Given the description of an element on the screen output the (x, y) to click on. 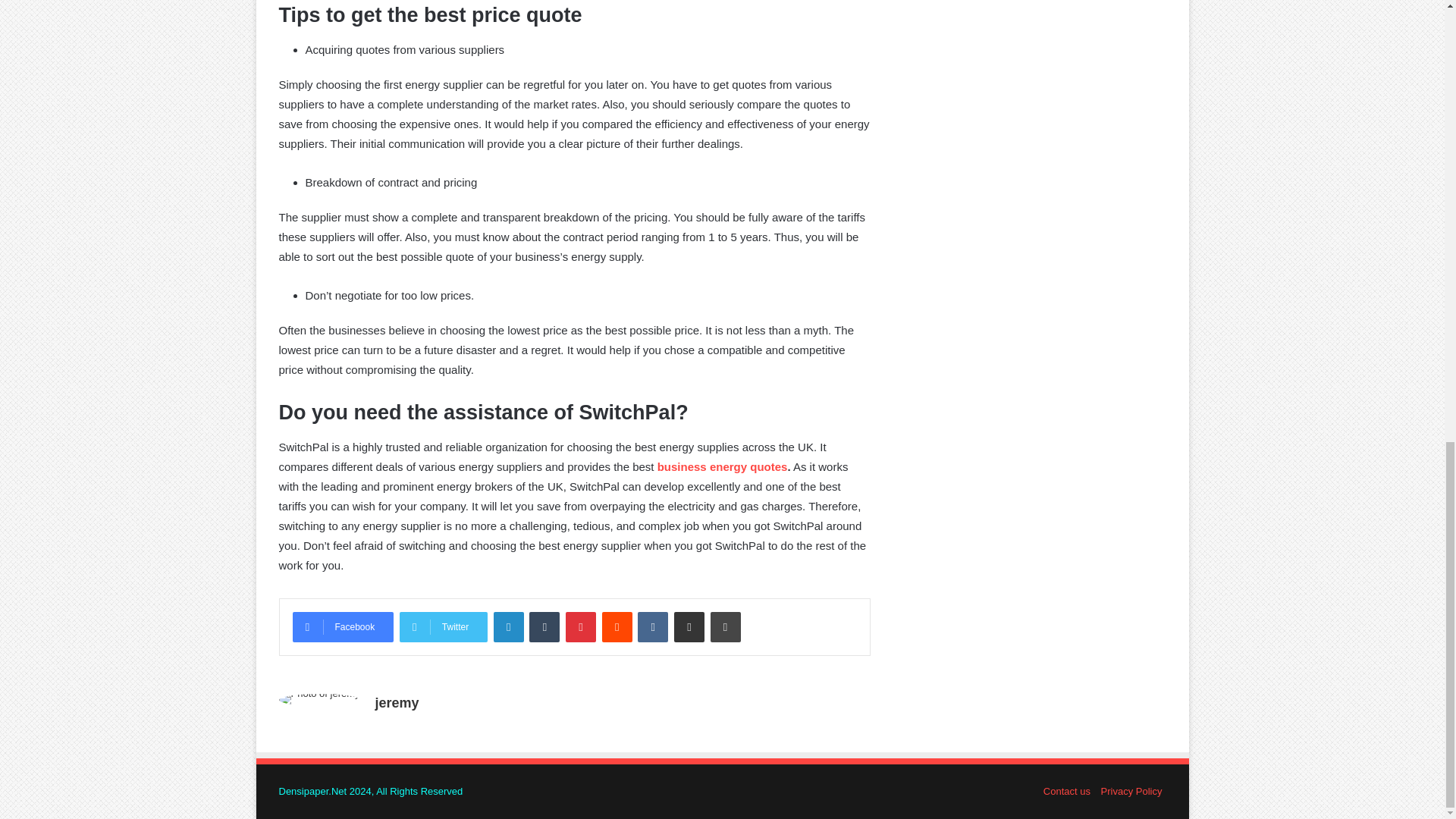
Twitter (442, 626)
business energy quotes (722, 466)
Reddit (616, 626)
Facebook (343, 626)
Share via Email (689, 626)
jeremy (397, 702)
Privacy Policy (1130, 790)
Twitter (442, 626)
Share via Email (689, 626)
Pinterest (580, 626)
